Given the description of an element on the screen output the (x, y) to click on. 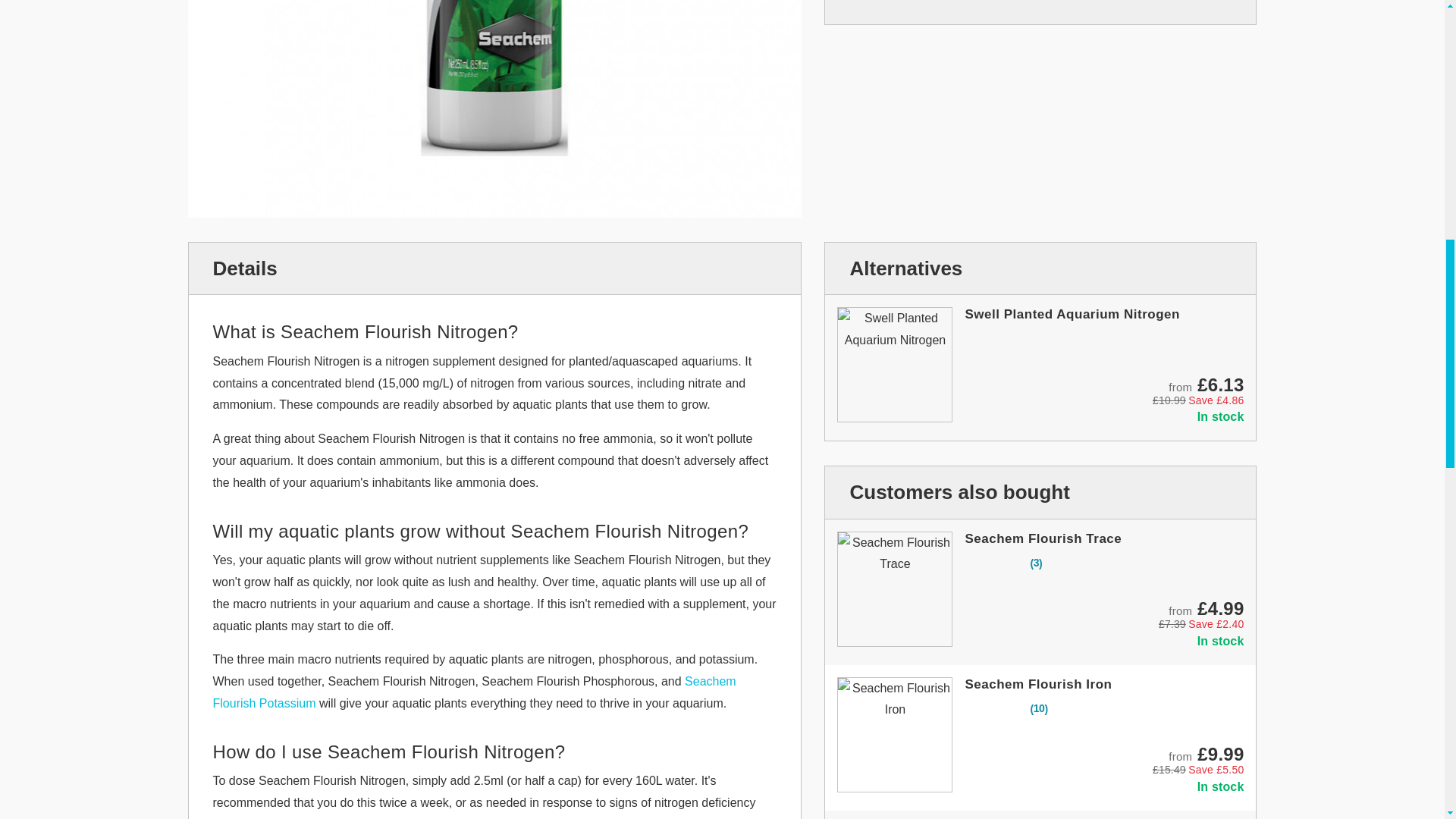
Swell Planted Aquarium Nitrogen (1071, 314)
Seachem Flourish Trace (1042, 538)
